Given the description of an element on the screen output the (x, y) to click on. 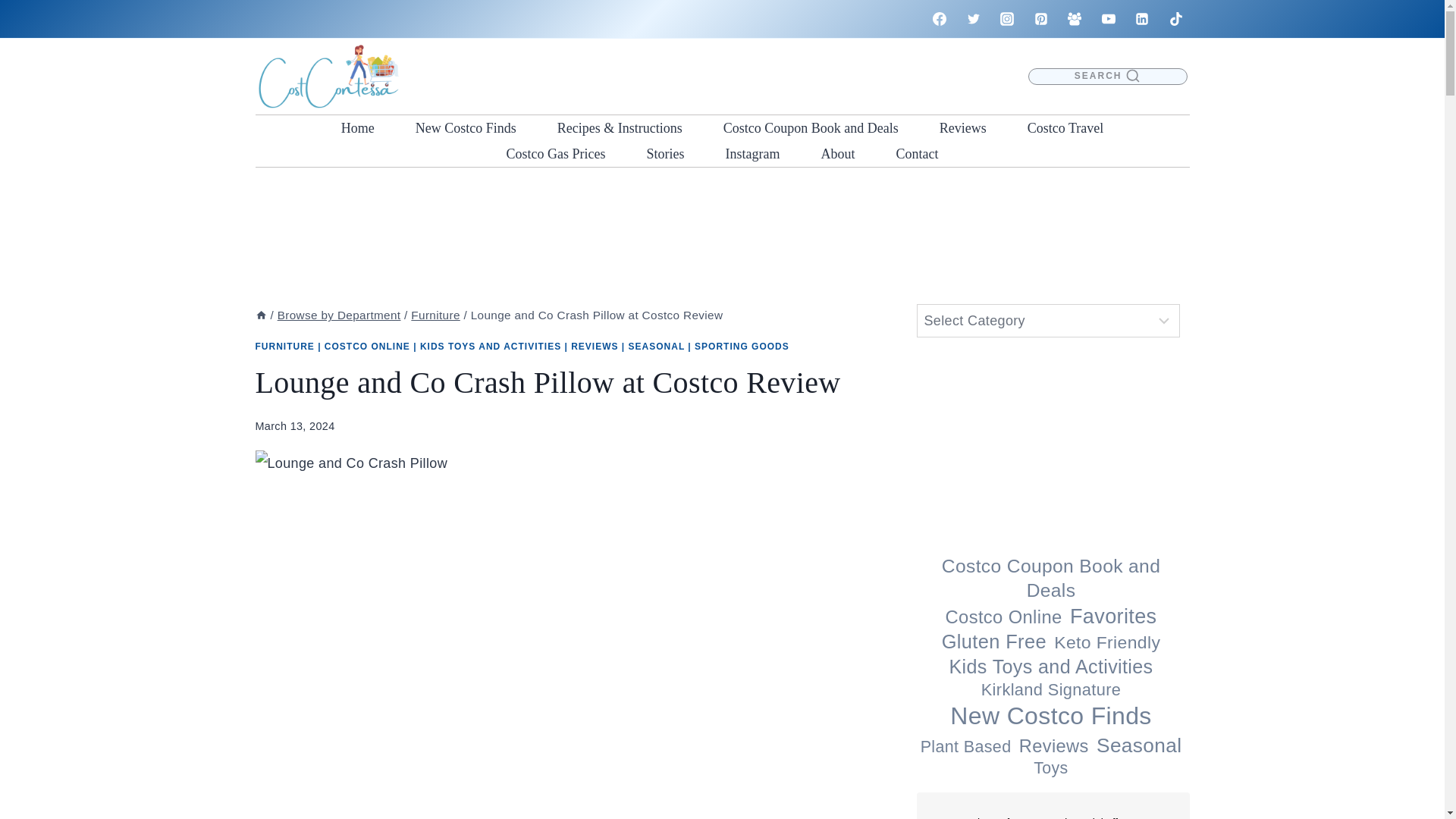
Costco Travel (1065, 127)
SEASONAL (656, 346)
New Costco Finds (465, 127)
FURNITURE (284, 346)
Home (357, 127)
Costco Coupon Book and Deals (810, 127)
Stories (665, 153)
SEARCH (1107, 76)
Contact (916, 153)
About (837, 153)
Costco Gas Prices (555, 153)
Furniture (435, 314)
REVIEWS (593, 346)
KIDS TOYS AND ACTIVITIES (490, 346)
